Given the description of an element on the screen output the (x, y) to click on. 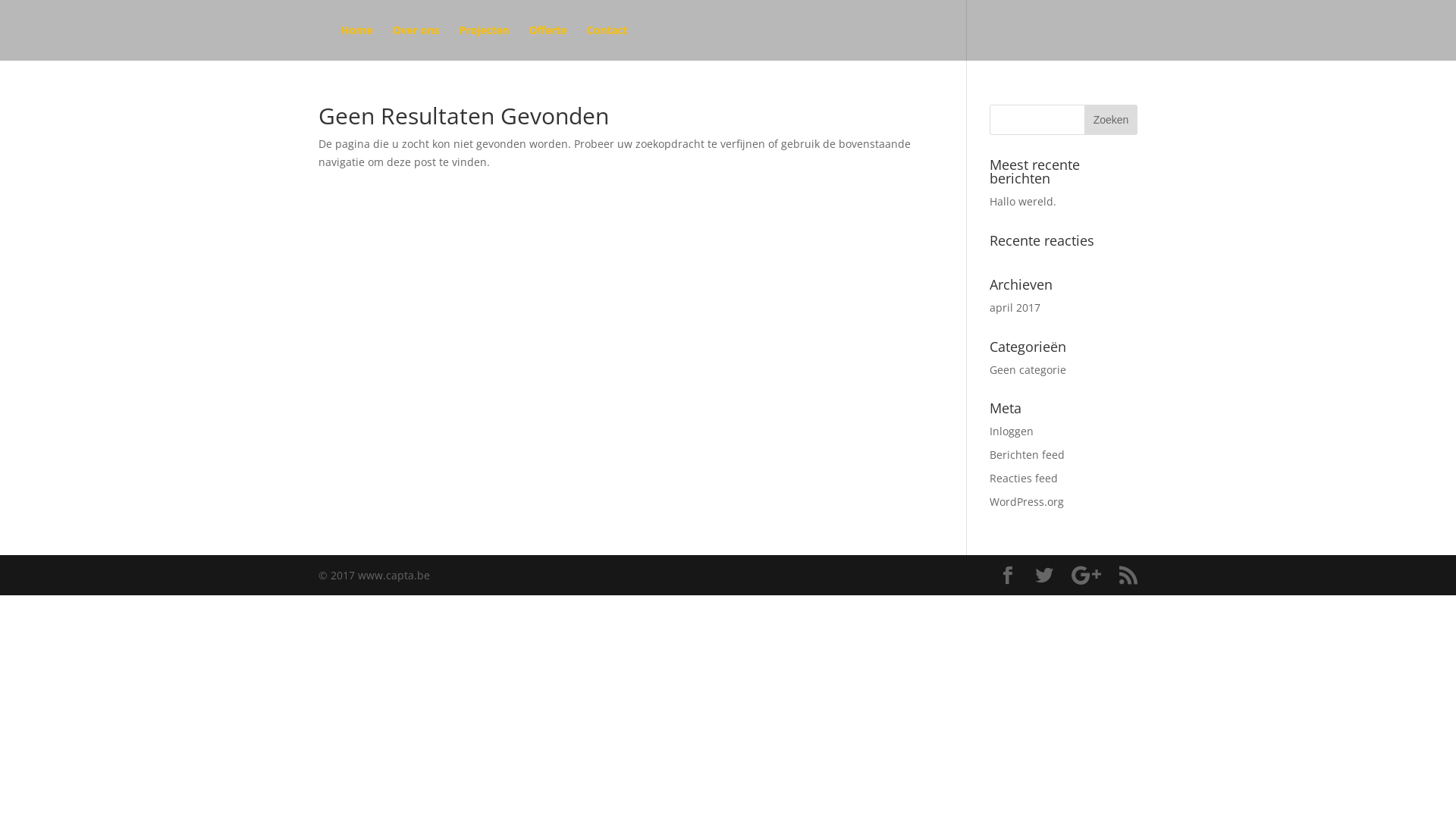
Reacties feed Element type: text (1023, 477)
april 2017 Element type: text (1014, 307)
Home Element type: text (357, 42)
Hallo wereld. Element type: text (1022, 201)
WordPress.org Element type: text (1026, 501)
Contact Element type: text (606, 42)
Zoeken Element type: text (1110, 119)
Projecten Element type: text (484, 42)
Inloggen Element type: text (1011, 430)
Offerte Element type: text (548, 42)
Berichten feed Element type: text (1026, 454)
Geen categorie Element type: text (1027, 369)
Over ons Element type: text (415, 42)
